Given the description of an element on the screen output the (x, y) to click on. 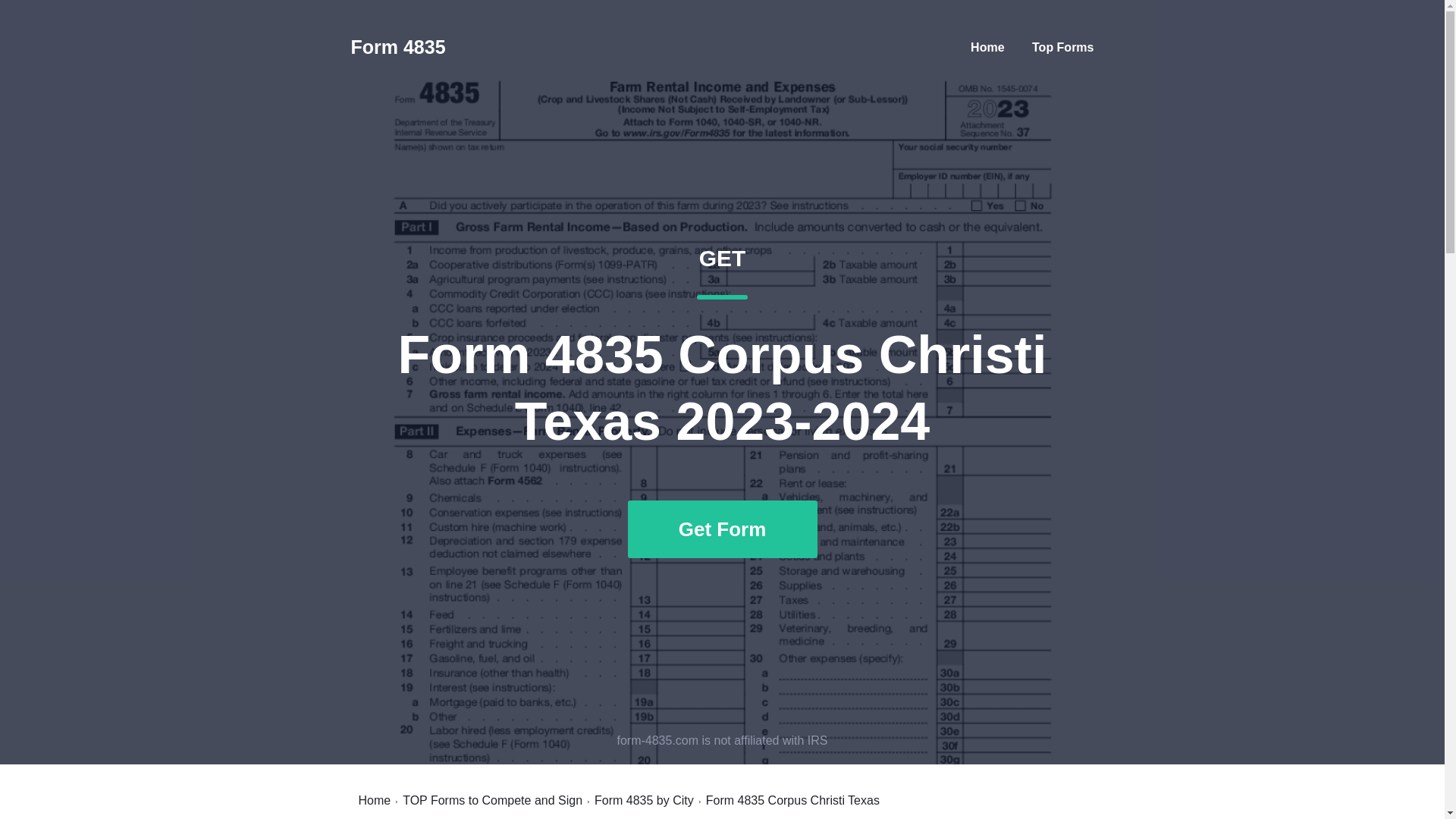
Home (987, 47)
Top Forms (1062, 47)
Form 4835 by City (644, 800)
Home (374, 800)
TOP Forms to Compete and Sign (492, 800)
Form 4835 (397, 46)
